Given the description of an element on the screen output the (x, y) to click on. 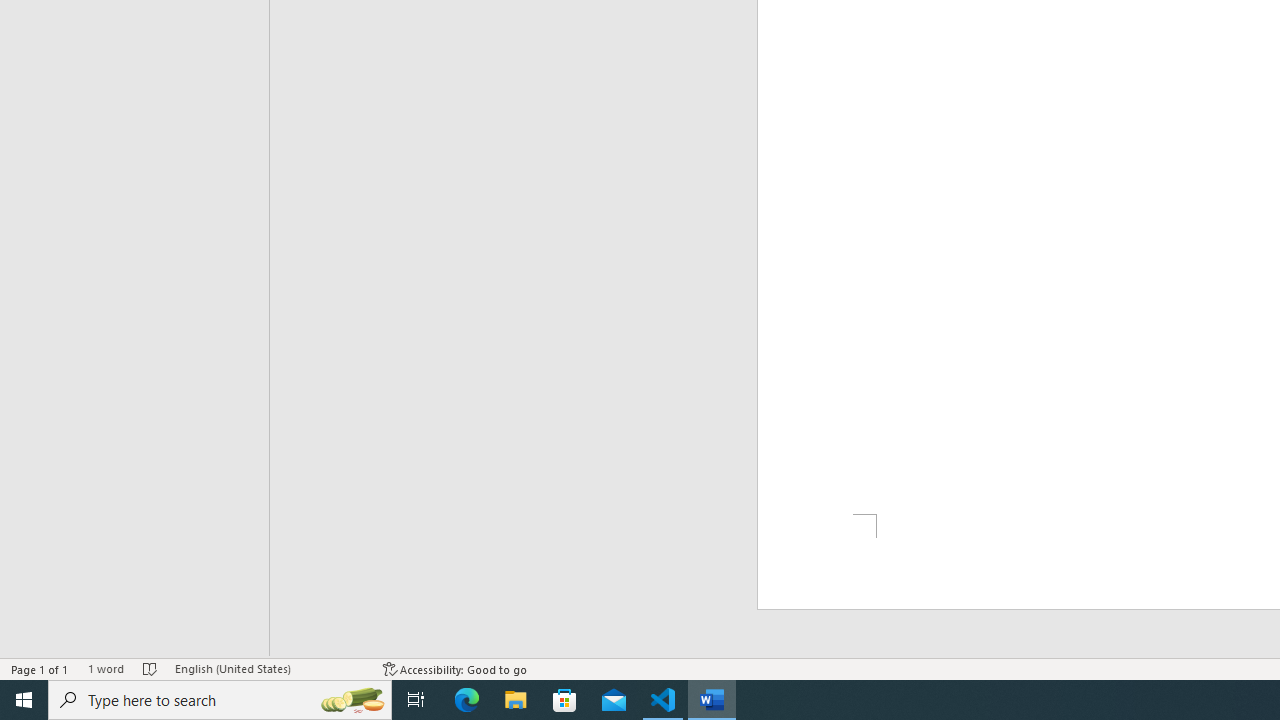
Spelling and Grammar Check No Errors (150, 668)
Accessibility Checker Accessibility: Good to go (455, 668)
Page Number Page 1 of 1 (39, 668)
